Given the description of an element on the screen output the (x, y) to click on. 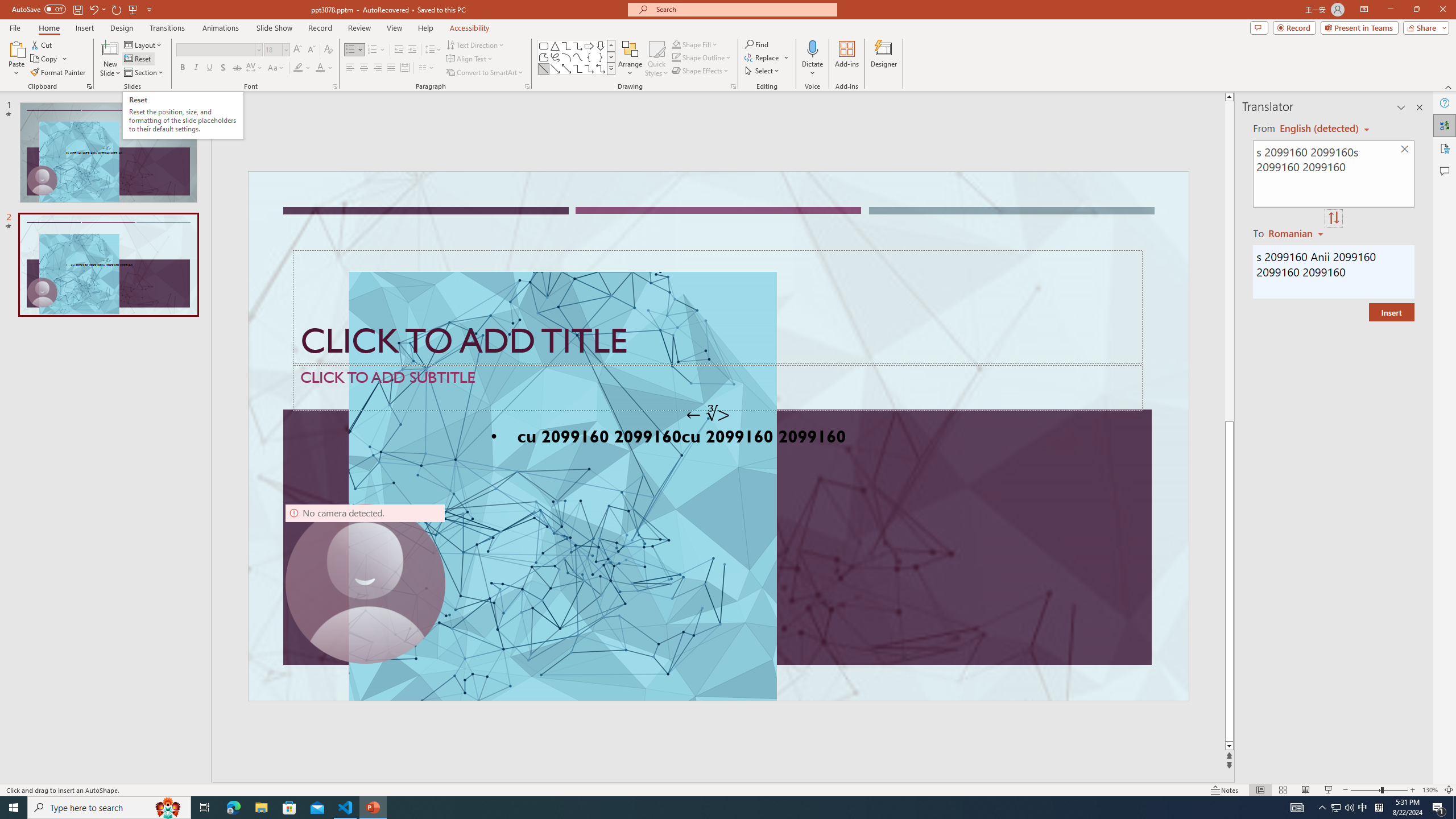
Shape Outline (701, 56)
Copy (45, 58)
Font Color Red (320, 67)
Camera 9, No camera detected. (364, 584)
Arrange (630, 58)
Numbering (376, 49)
Line down (1245, 746)
Format Painter (58, 72)
